Given the description of an element on the screen output the (x, y) to click on. 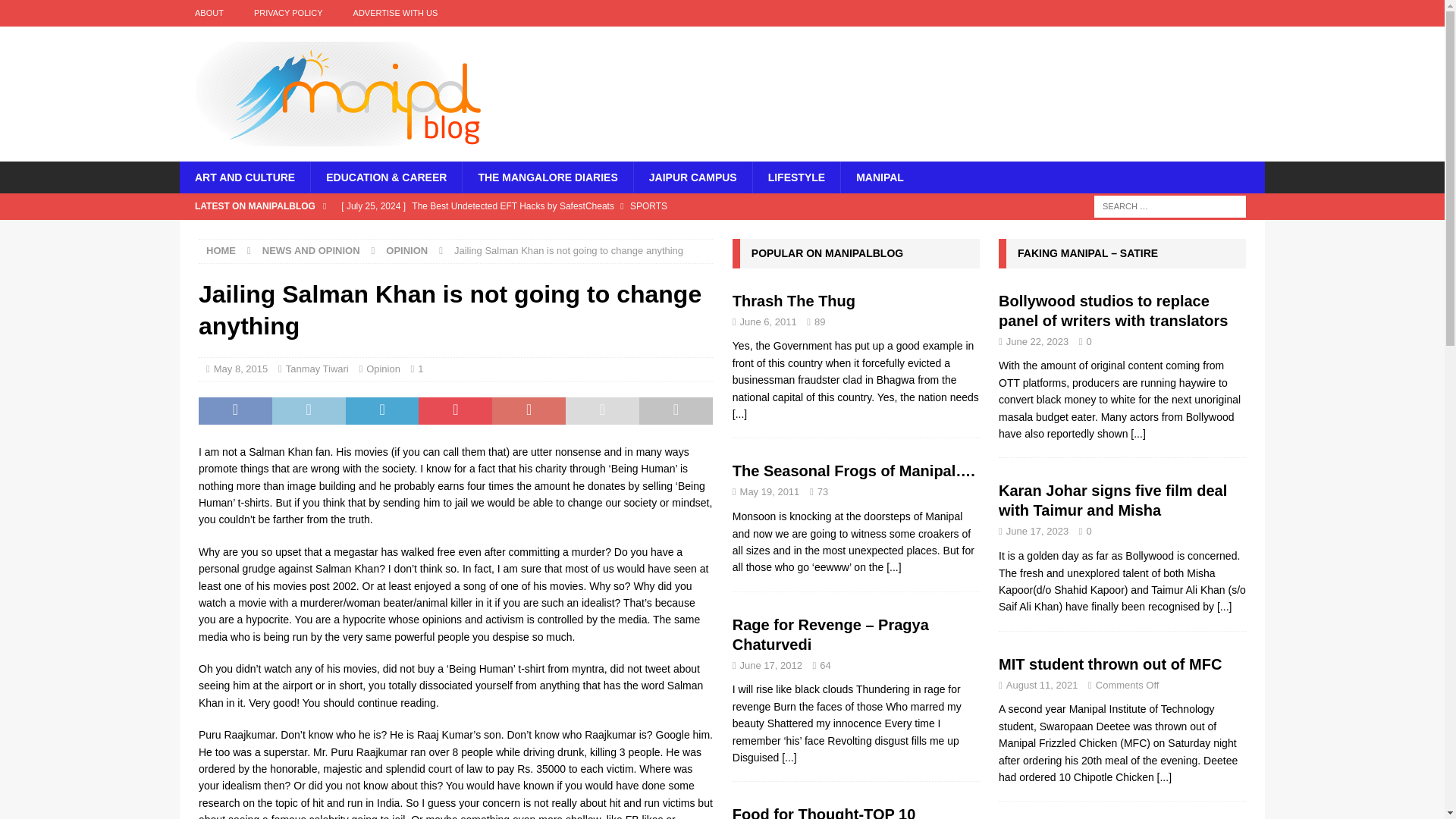
ART AND CULTURE (244, 177)
HOME (220, 250)
PRIVACY POLICY (287, 13)
The Best Undetected EFT Hacks by SafestCheats (609, 206)
LIFESTYLE (796, 177)
NEWS AND OPINION (310, 250)
MANIPAL (879, 177)
Search (56, 11)
ADVERTISE WITH US (394, 13)
JAIPUR CAMPUS (692, 177)
